Given the description of an element on the screen output the (x, y) to click on. 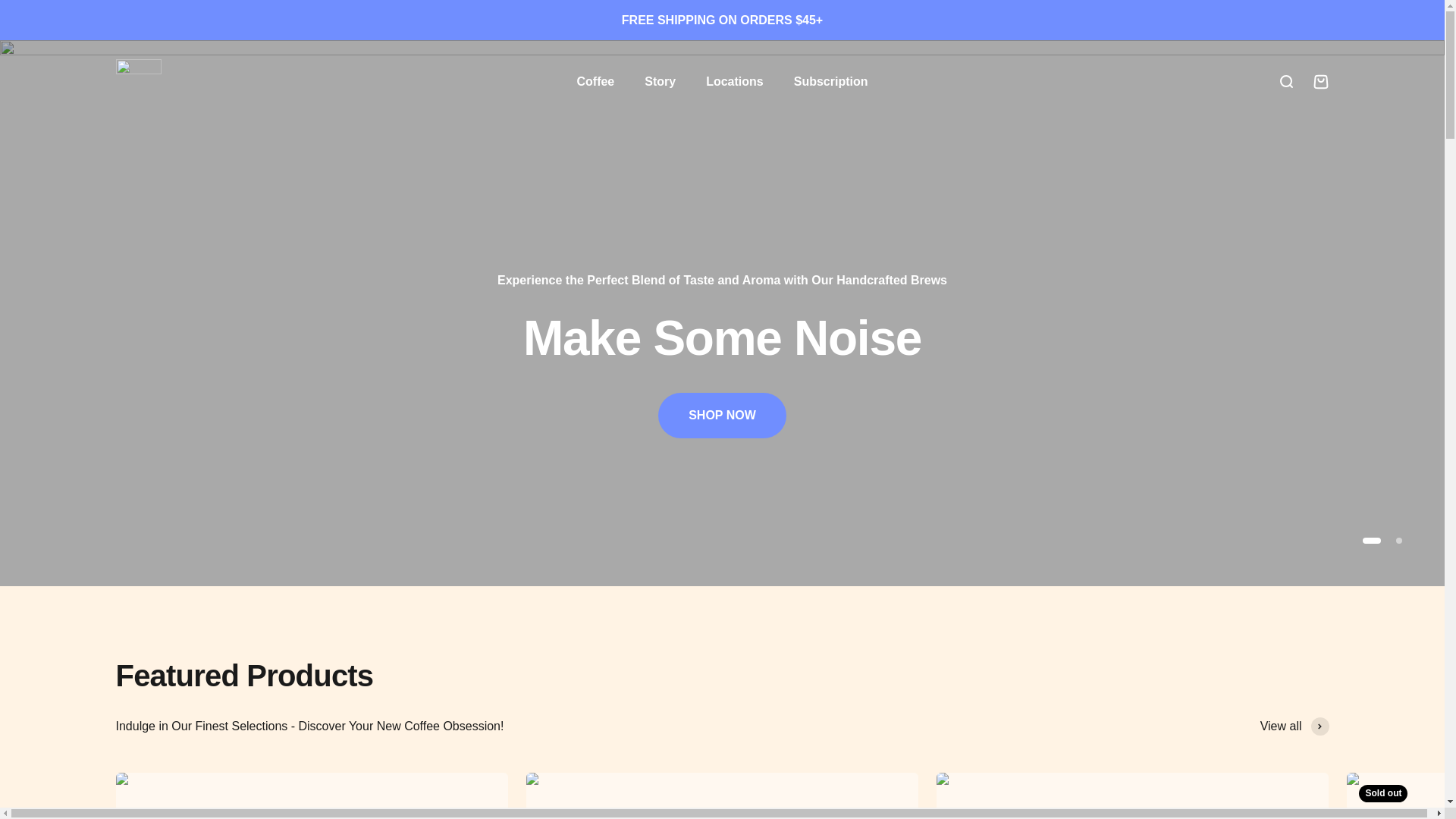
White Noise Coffee (137, 81)
Story (660, 81)
Go to item 2 (1399, 540)
Coffee (595, 81)
SHOP NOW (722, 415)
Locations (734, 81)
Subscription (830, 81)
Open search (1285, 81)
Open cart (1319, 81)
Go to item 1 (1371, 540)
